Given the description of an element on the screen output the (x, y) to click on. 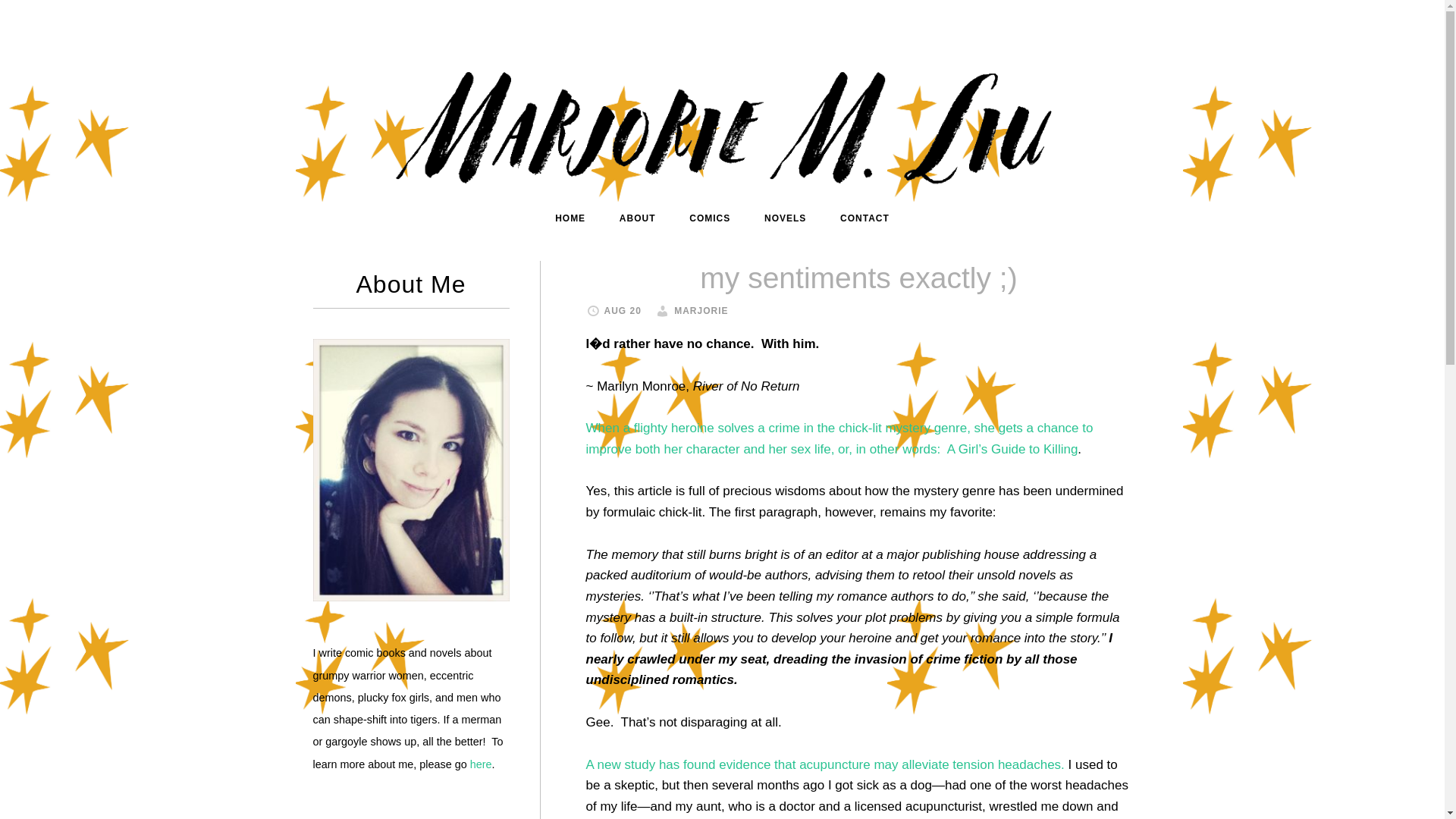
ABOUT (637, 218)
here (481, 764)
CONTACT (864, 218)
MARJORIE (701, 310)
MARJORIE LIU (721, 122)
NOVELS (785, 218)
COMICS (709, 218)
HOME (569, 218)
